Given the description of an element on the screen output the (x, y) to click on. 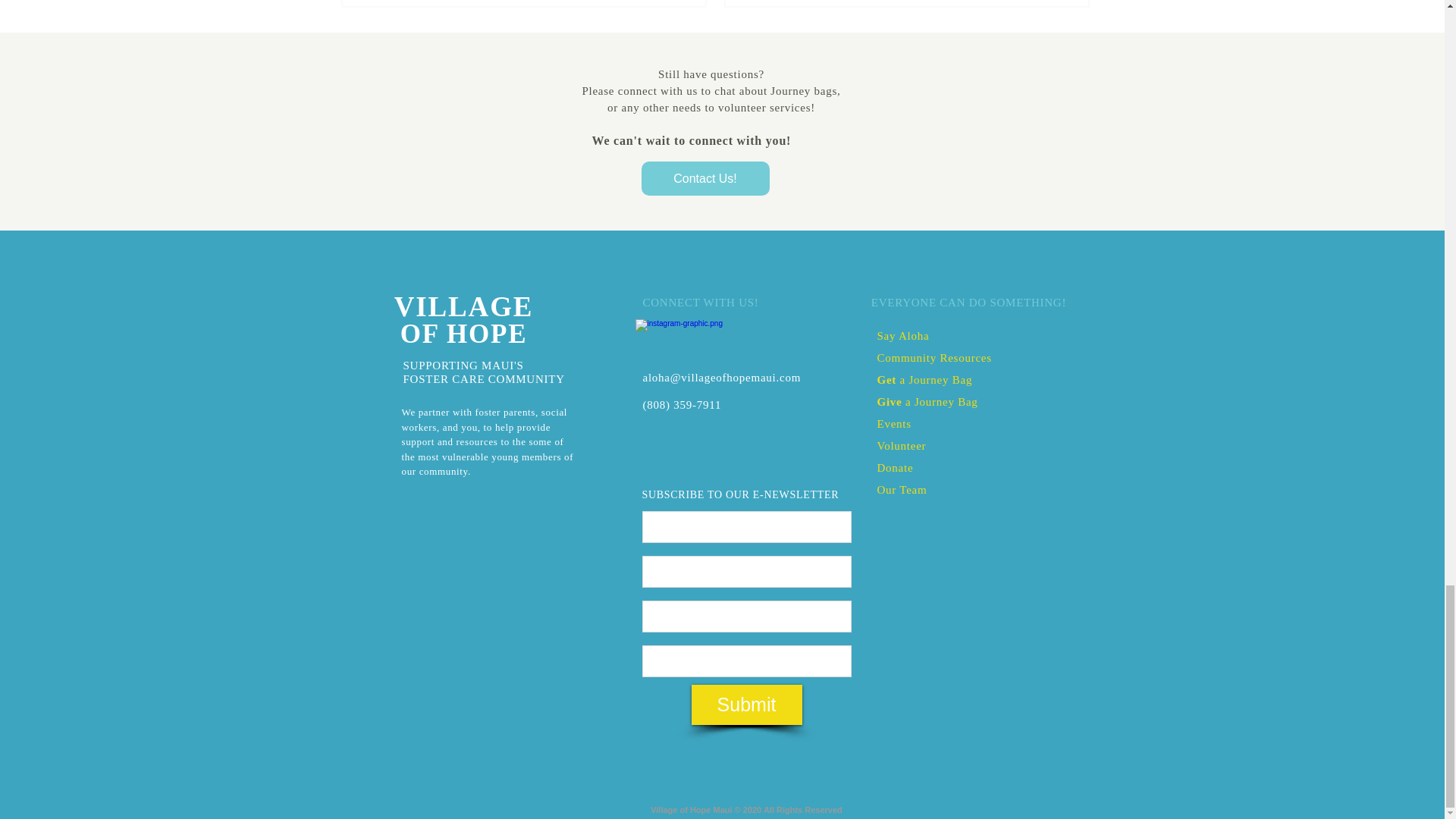
Our Team (901, 490)
Volunteer (901, 445)
Contact Us! (706, 178)
Donate (894, 467)
Events (893, 422)
Give a Journey Bag (926, 400)
Submit (746, 704)
Get a Journey Bag (924, 379)
Community Resources (933, 357)
Say Aloha (902, 335)
